Given the description of an element on the screen output the (x, y) to click on. 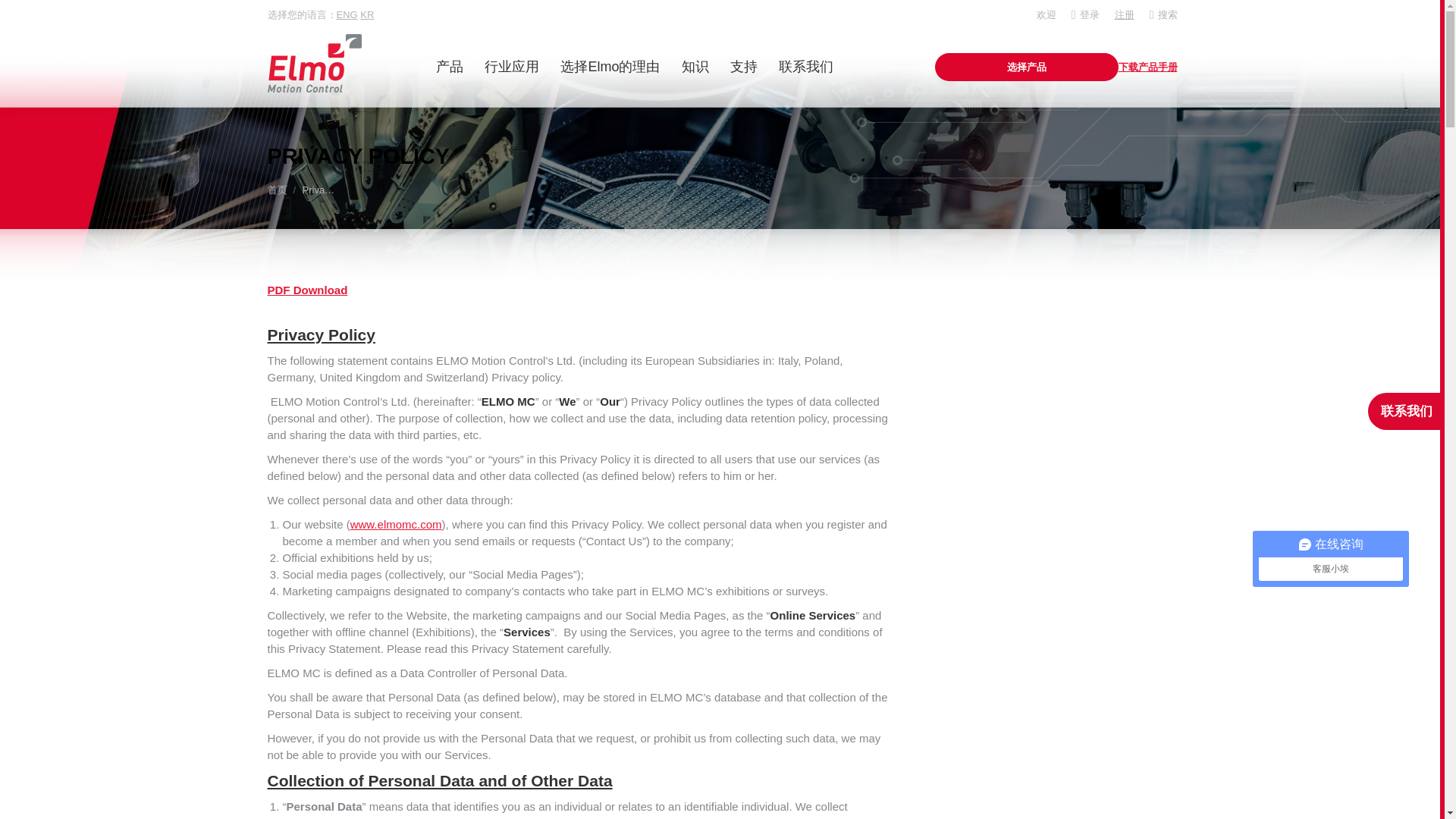
ENG (347, 14)
KR (366, 14)
Go! (24, 15)
